Given the description of an element on the screen output the (x, y) to click on. 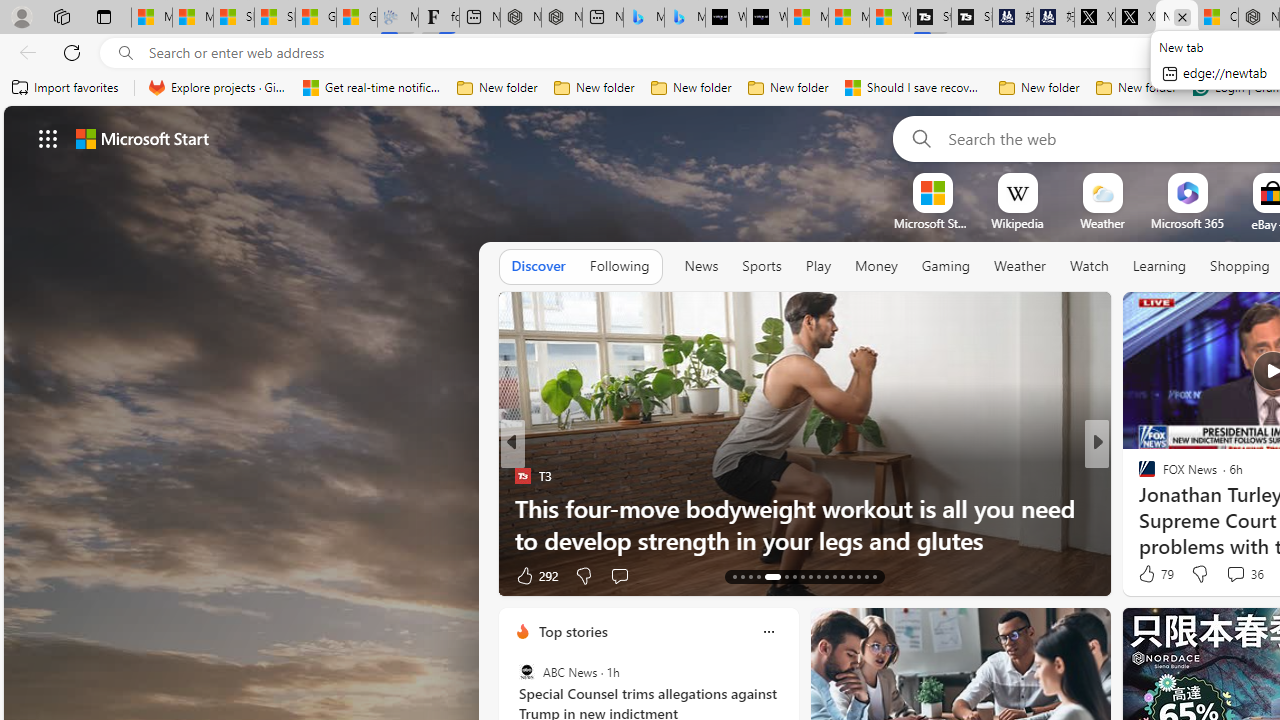
Back (24, 52)
View comments 36 Comment (1244, 574)
Top stories (572, 631)
Should I save recovered Word documents? - Microsoft Support (913, 88)
Twisted Sifter (1138, 475)
Microsoft Bing Travel - Shangri-La Hotel Bangkok (684, 17)
T3 (522, 475)
View comments 103 Comment (1234, 575)
317 Like (1151, 574)
View comments 8 Comment (1229, 575)
X (1135, 17)
Aspose (1149, 507)
View comments 17 Comment (1244, 574)
292 Like (535, 574)
